Given the description of an element on the screen output the (x, y) to click on. 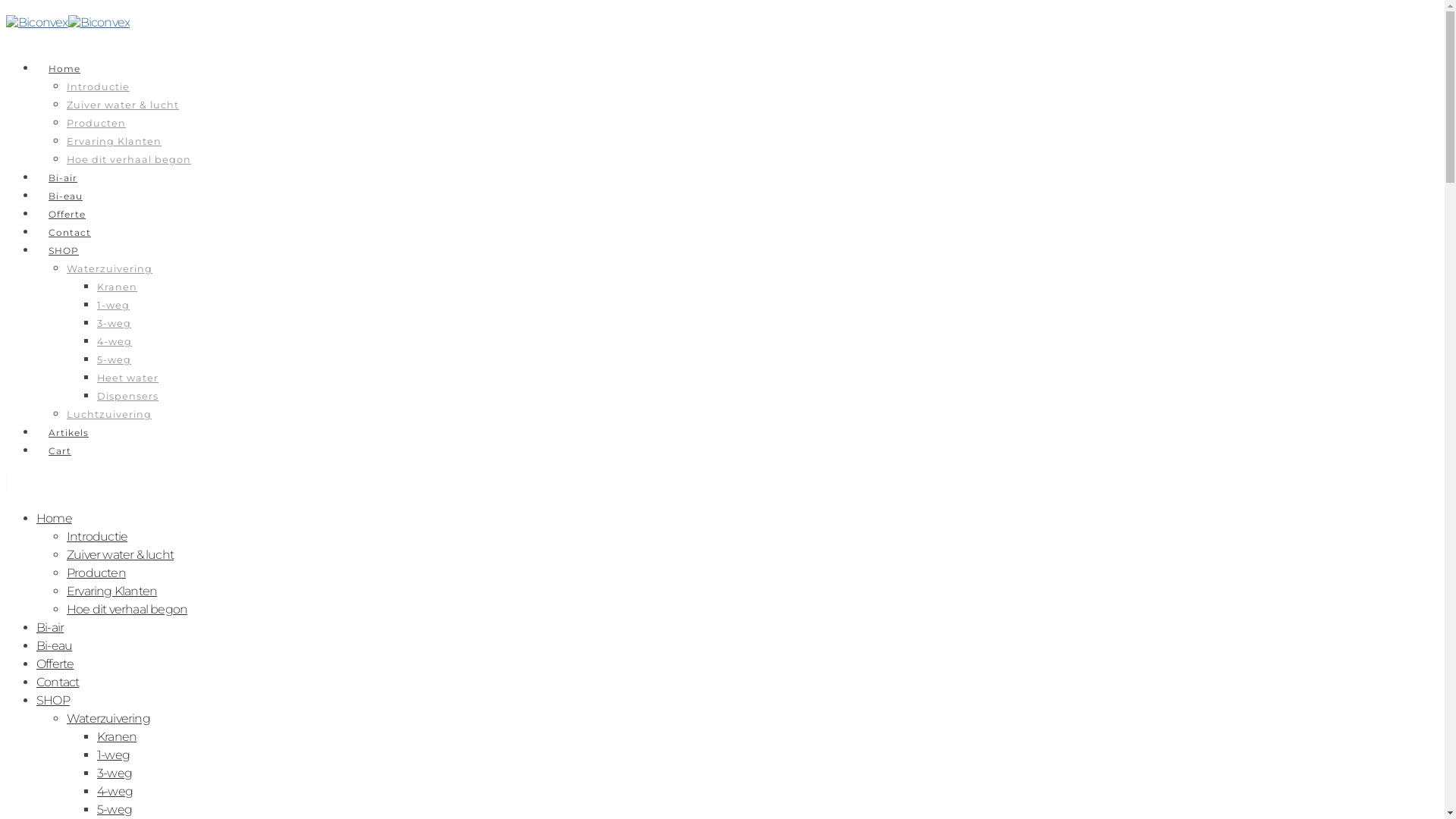
Luchtzuivering Element type: text (108, 414)
4-weg Element type: text (114, 341)
Biconvex - Lucht & Waterzuivering Element type: hover (67, 22)
Hoe dit verhaal begon Element type: text (128, 159)
Ervaring Klanten Element type: text (113, 141)
Offerte Element type: text (54, 663)
3-weg Element type: text (114, 772)
Zuiver water & lucht Element type: text (119, 554)
Kranen Element type: text (116, 736)
Offerte Element type: text (66, 213)
Kranen Element type: text (117, 286)
Artikels Element type: text (68, 432)
SHOP Element type: text (63, 250)
Cart Element type: text (59, 450)
Hoe dit verhaal begon Element type: text (126, 609)
Waterzuivering Element type: text (108, 718)
Bi-air Element type: text (62, 177)
SHOP Element type: text (52, 700)
Bi-eau Element type: text (54, 645)
3-weg Element type: text (114, 323)
1-weg Element type: text (113, 304)
1-weg Element type: text (113, 754)
Zuiver water & lucht Element type: text (122, 104)
Introductie Element type: text (96, 536)
5-weg Element type: text (114, 809)
Bi-eau Element type: text (65, 195)
Heet water Element type: text (127, 377)
5-weg Element type: text (114, 359)
Producten Element type: text (95, 572)
Introductie Element type: text (97, 86)
Contact Element type: text (57, 681)
Dispensers Element type: text (127, 395)
Home Element type: text (54, 518)
Producten Element type: text (95, 122)
Waterzuivering Element type: text (109, 268)
Contact Element type: text (69, 232)
Home Element type: text (64, 68)
4-weg Element type: text (114, 791)
Ervaring Klanten Element type: text (111, 590)
Bi-air Element type: text (49, 627)
